Given the description of an element on the screen output the (x, y) to click on. 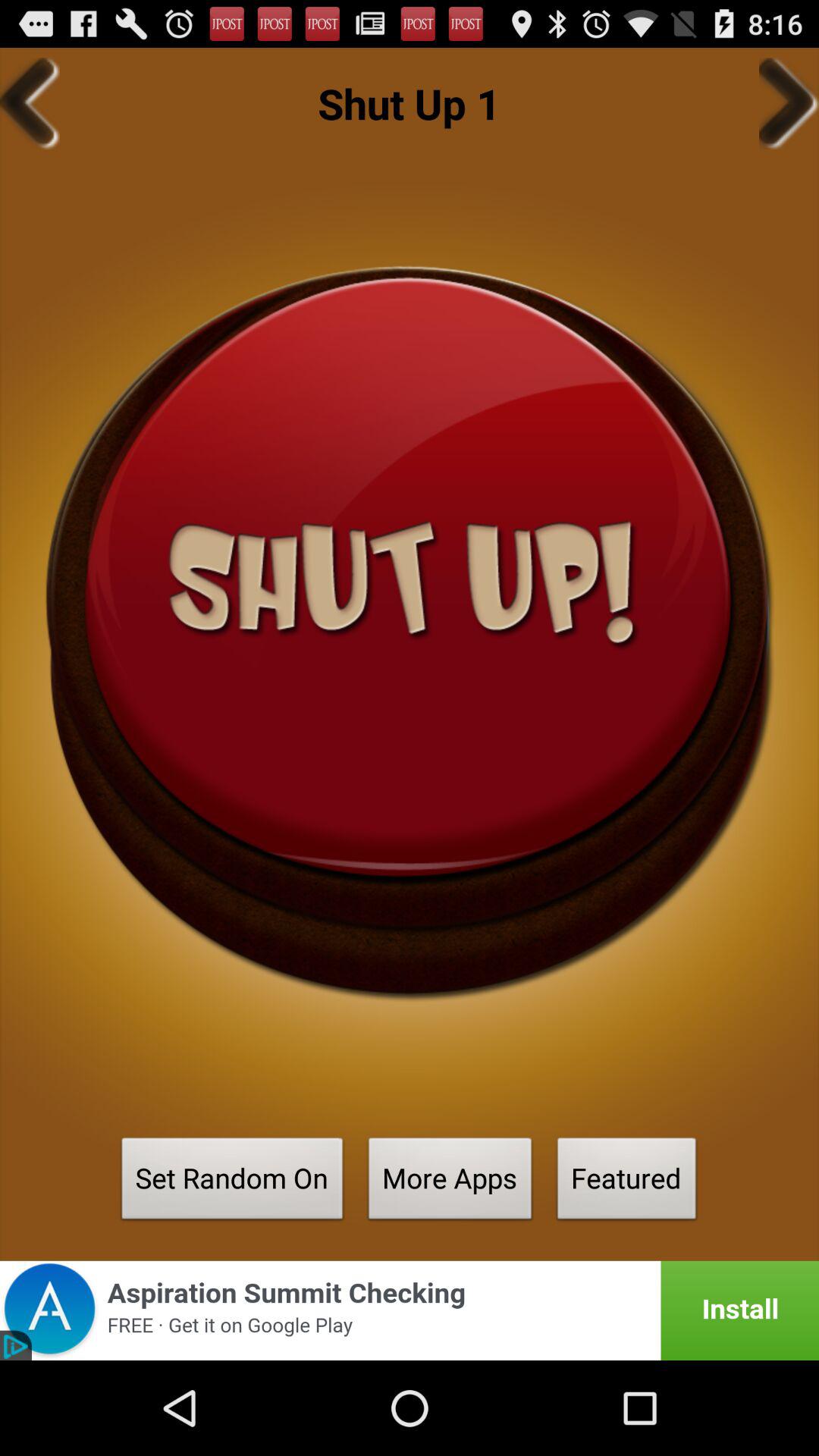
click button next to the more apps icon (232, 1182)
